Given the description of an element on the screen output the (x, y) to click on. 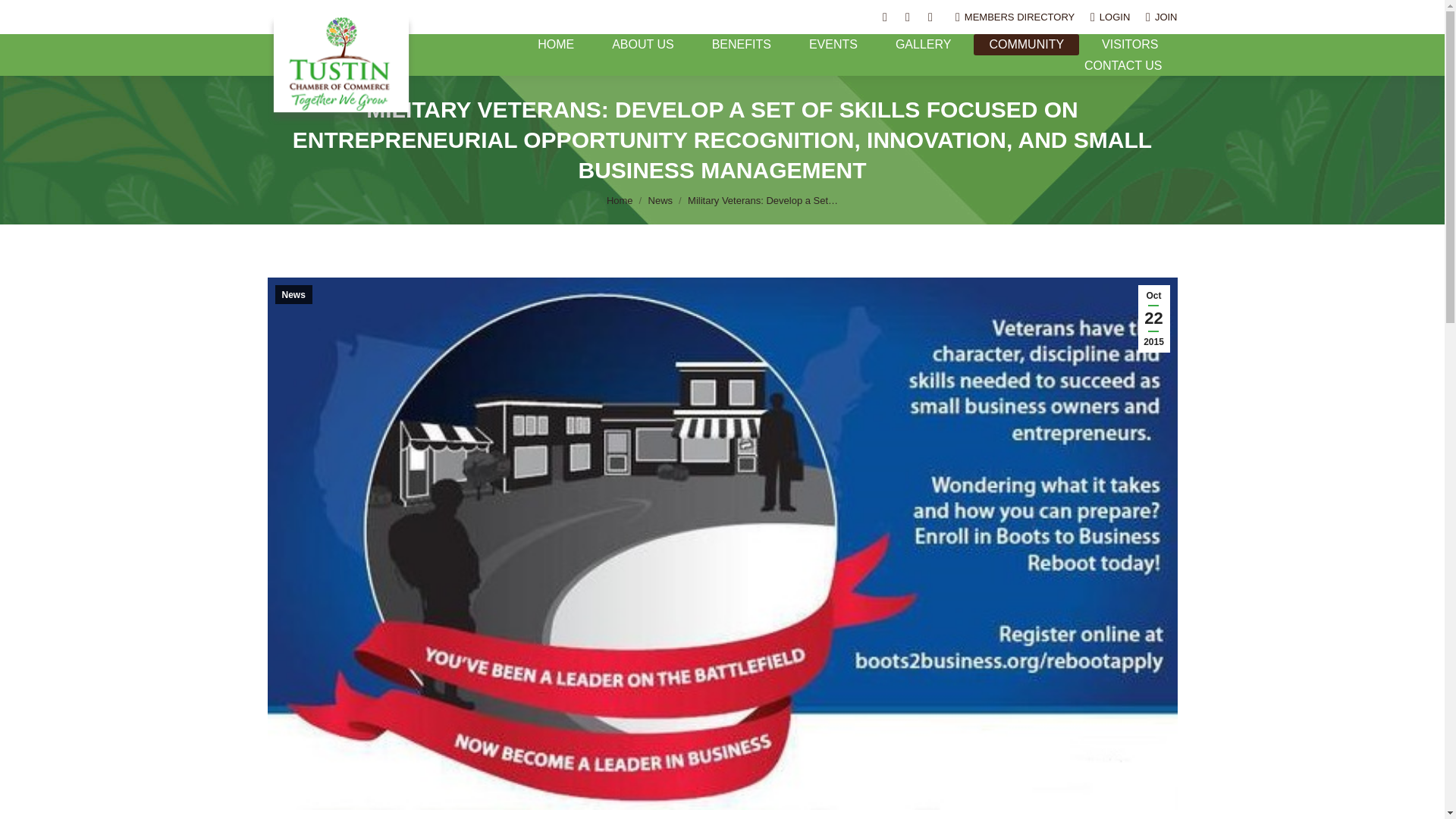
JOIN (1160, 16)
ABOUT US (642, 44)
YouTube page opens in new window (907, 17)
MEMBERS DIRECTORY (1014, 16)
HOME (555, 44)
Facebook page opens in new window (885, 17)
News (659, 200)
Rss page opens in new window (930, 17)
LOGIN (1109, 16)
Facebook page opens in new window (885, 17)
Rss page opens in new window (930, 17)
YouTube page opens in new window (907, 17)
Home (620, 200)
